Given the description of an element on the screen output the (x, y) to click on. 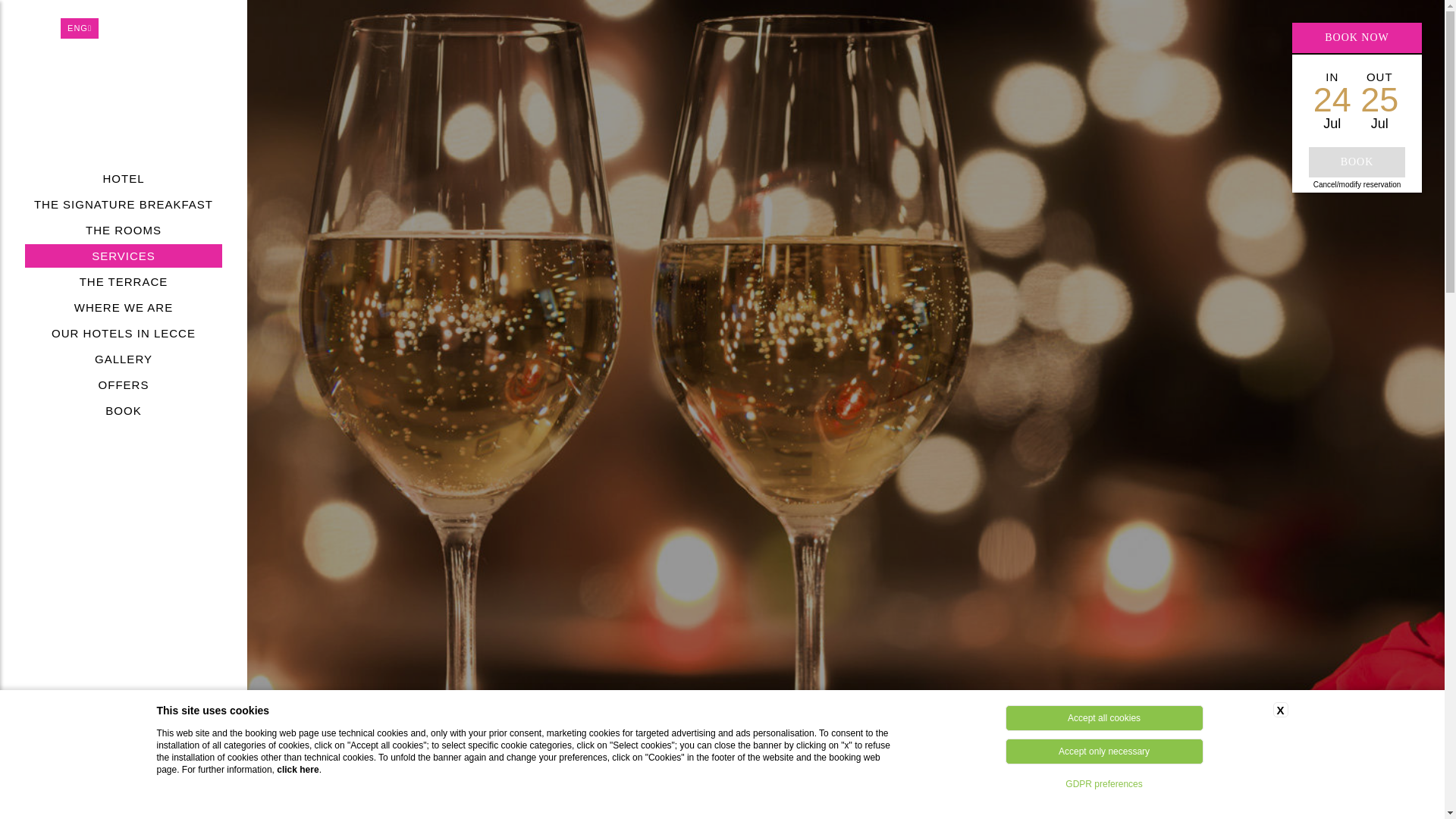
Accept all cookies (1105, 718)
SERVICES (123, 255)
Accept only necessary (1105, 751)
OUR HOTELS IN LECCE (123, 332)
THE TERRACE (123, 281)
OFFERS (123, 384)
THE ROOMS (123, 229)
Book (1356, 162)
GALLERY (123, 359)
BOOK (123, 410)
WHERE WE ARE (123, 307)
Book (1356, 162)
THE SIGNATURE BREAKFAST (123, 204)
HOTEL (123, 178)
GDPR preferences (1105, 784)
